Given the description of an element on the screen output the (x, y) to click on. 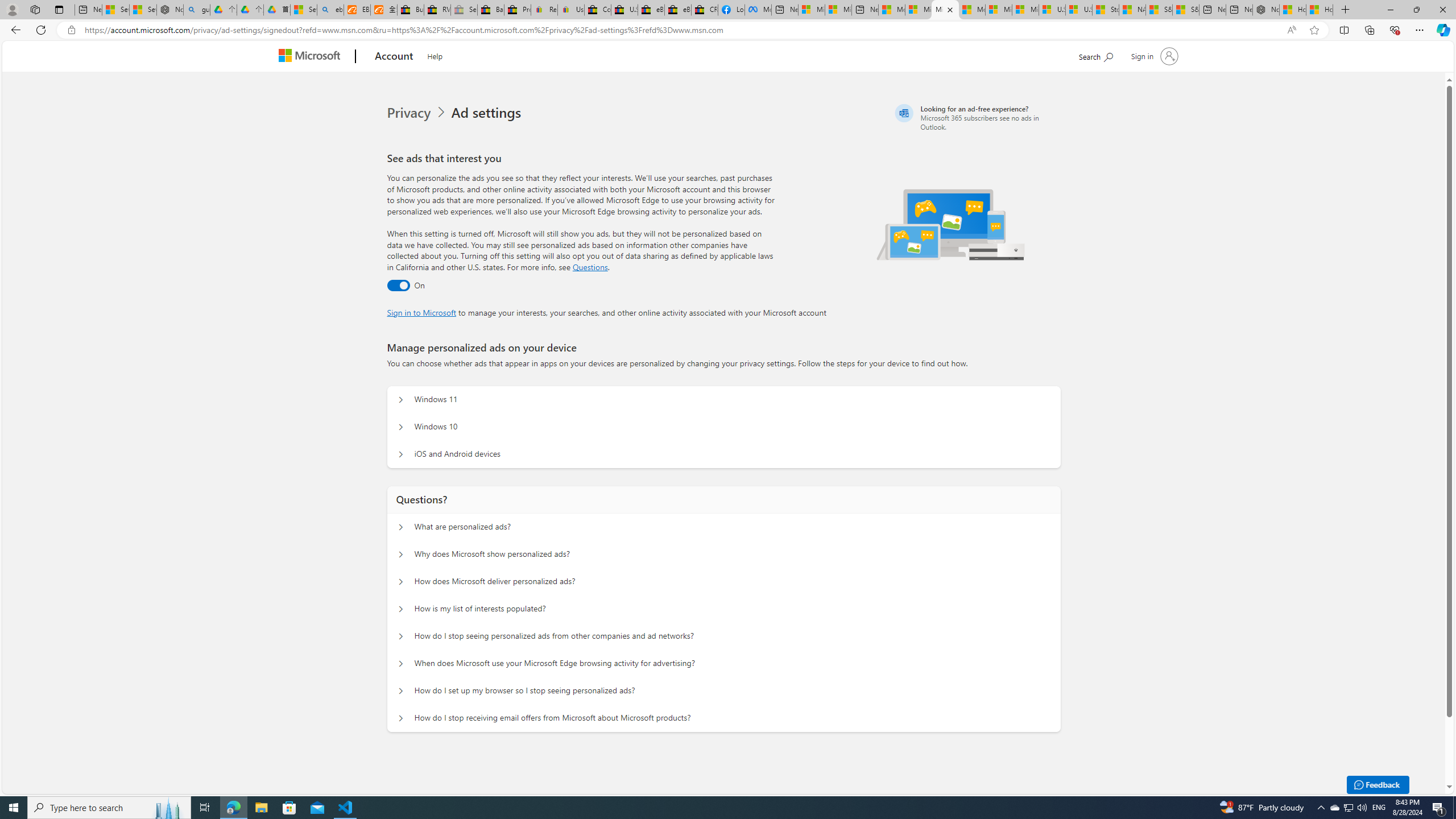
User Privacy Notice | eBay (571, 9)
Privacy (418, 112)
How to Use a Monitor With Your Closed Laptop (1319, 9)
Baby Keepsakes & Announcements for sale | eBay (491, 9)
Privacy (410, 112)
Consumer Health Data Privacy Policy - eBay Inc. (597, 9)
Ad settings toggle (398, 285)
Meta Store (757, 9)
